Given the description of an element on the screen output the (x, y) to click on. 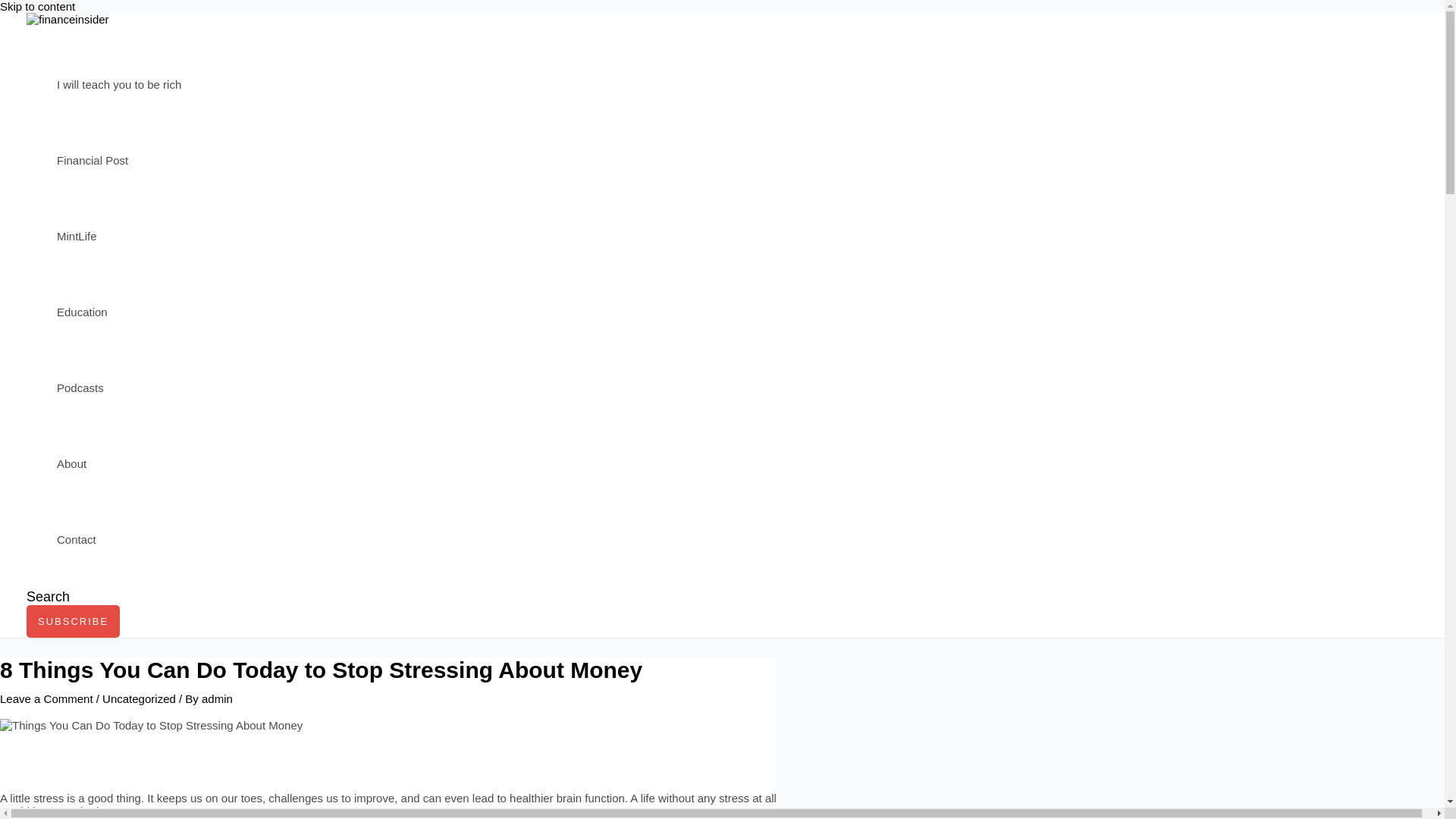
Leave a Comment (46, 698)
admin (217, 698)
SUBSCRIBE (72, 621)
Skip to content (37, 6)
MintLife (118, 236)
Contact (118, 540)
Uncategorized (138, 698)
Education (118, 312)
Search (47, 596)
Financial Post (118, 160)
